Given the description of an element on the screen output the (x, y) to click on. 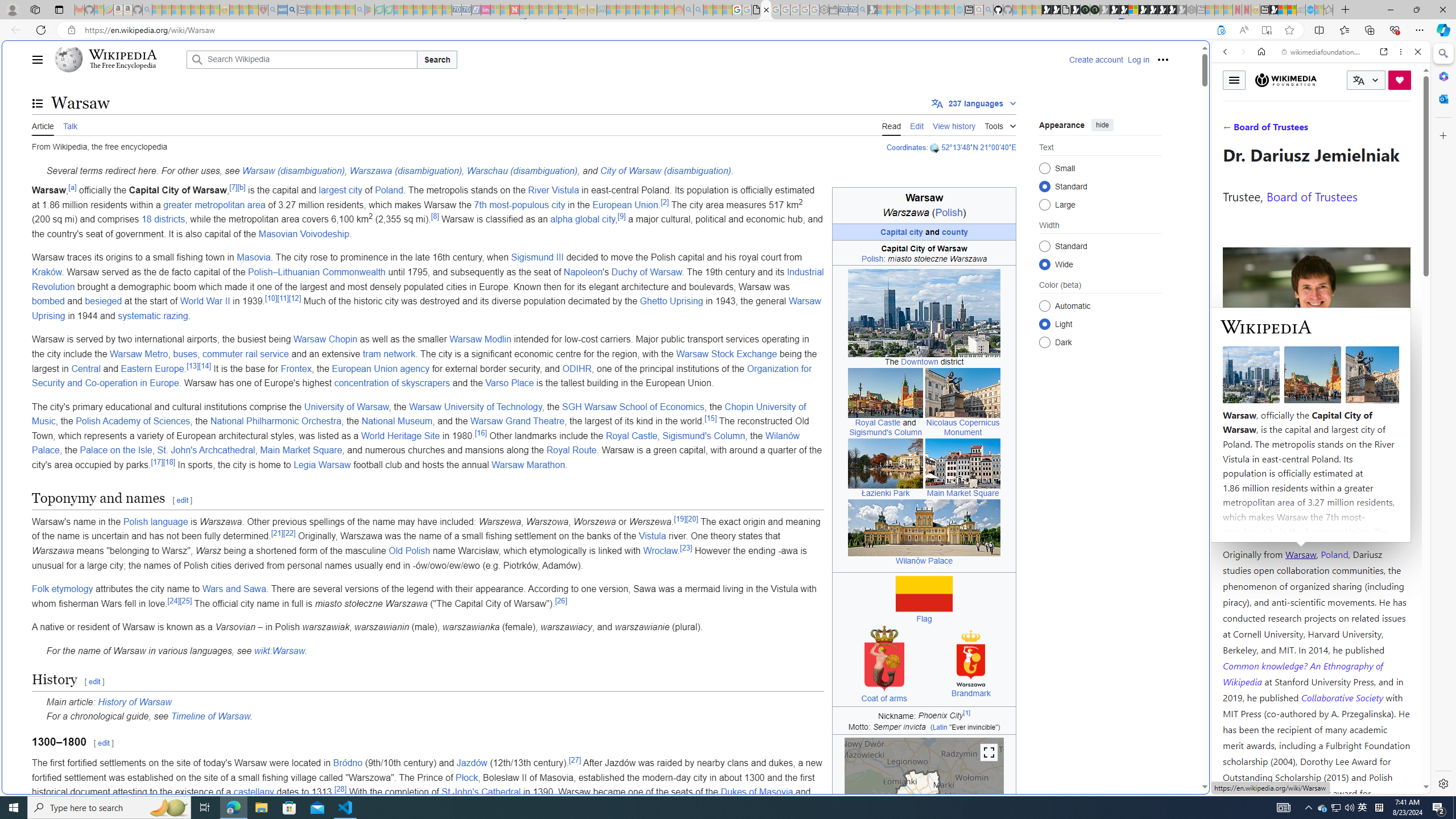
Talk (69, 124)
Class: i icon icon-translate language-switcher__icon (1358, 80)
18 districts (162, 219)
[26] (560, 600)
Royal Castle (631, 435)
systematic razing (152, 315)
